Given the description of an element on the screen output the (x, y) to click on. 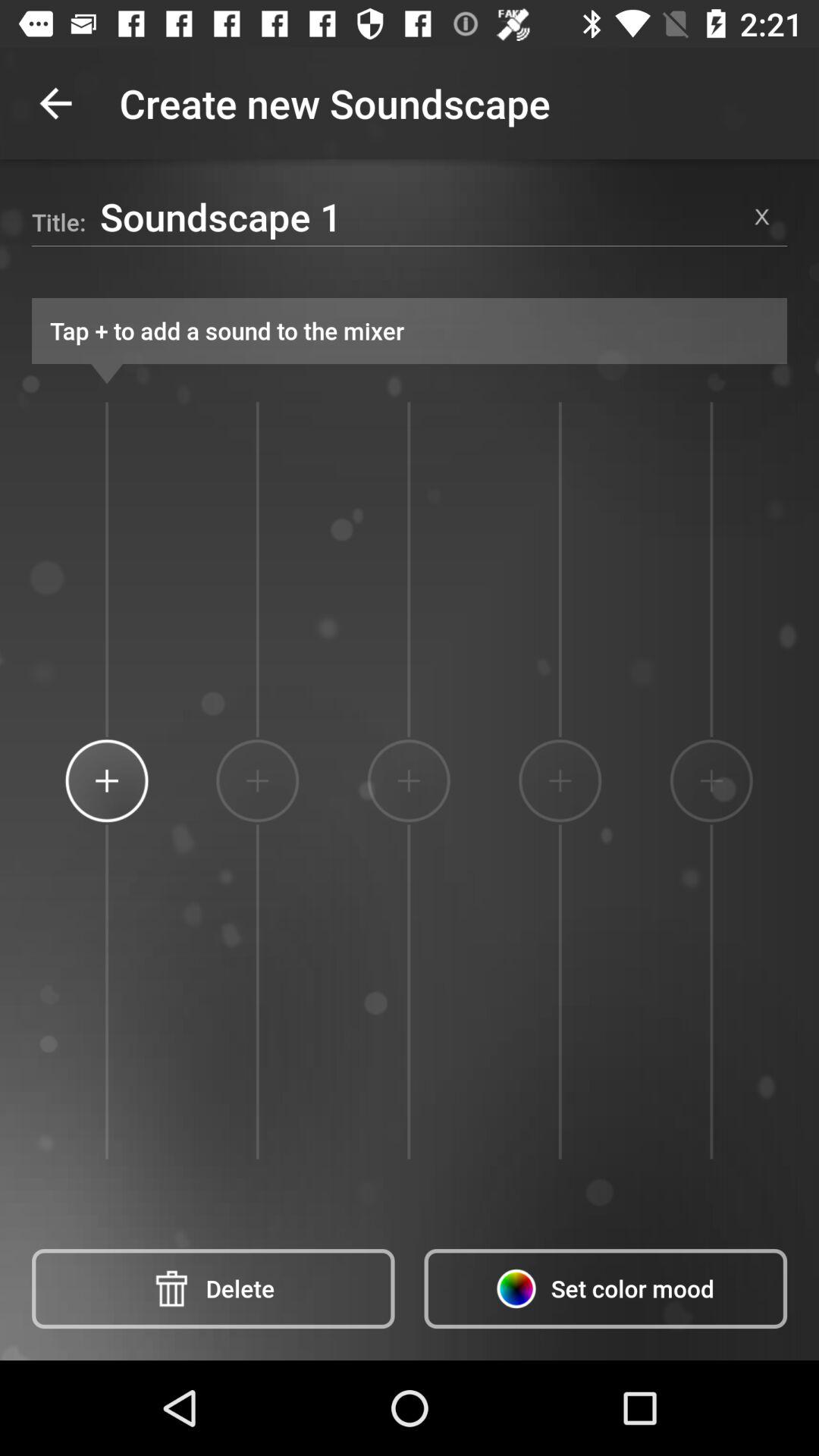
open the item above the delete (257, 780)
